Given the description of an element on the screen output the (x, y) to click on. 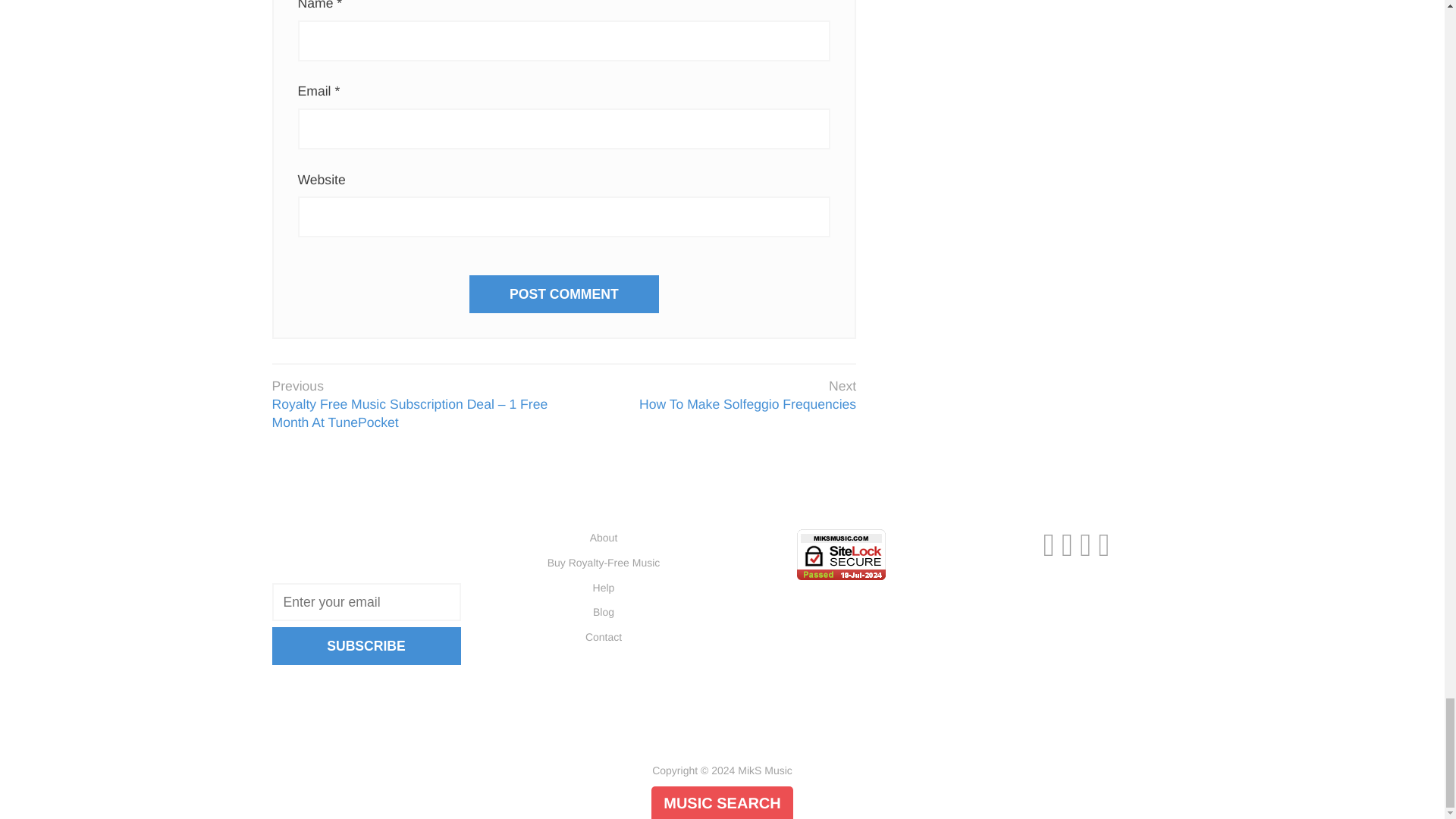
SUBSCRIBE (365, 646)
Post Comment (563, 293)
